Given the description of an element on the screen output the (x, y) to click on. 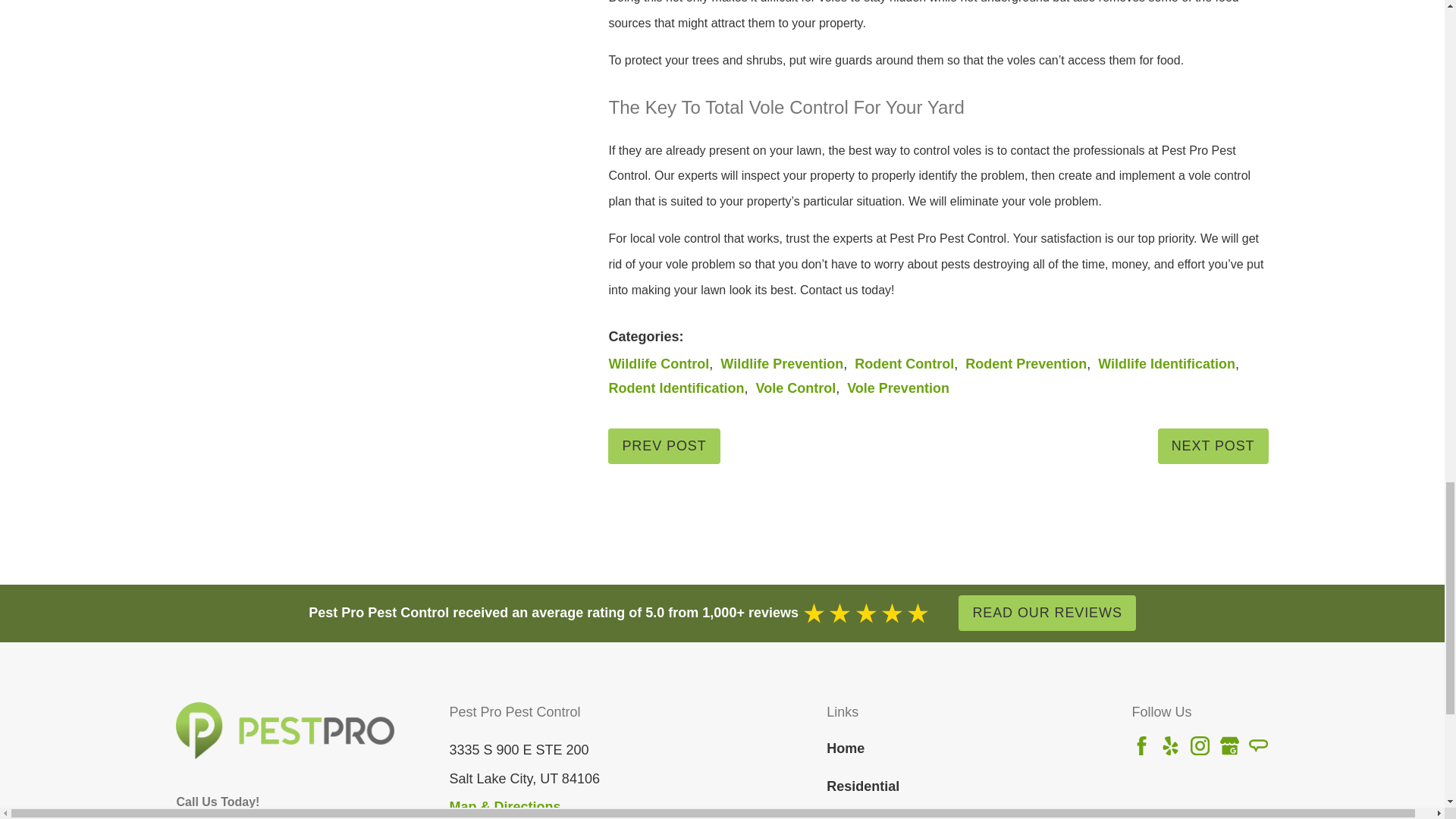
Facebook (1141, 745)
Star Rating (865, 612)
Home (285, 730)
